Given the description of an element on the screen output the (x, y) to click on. 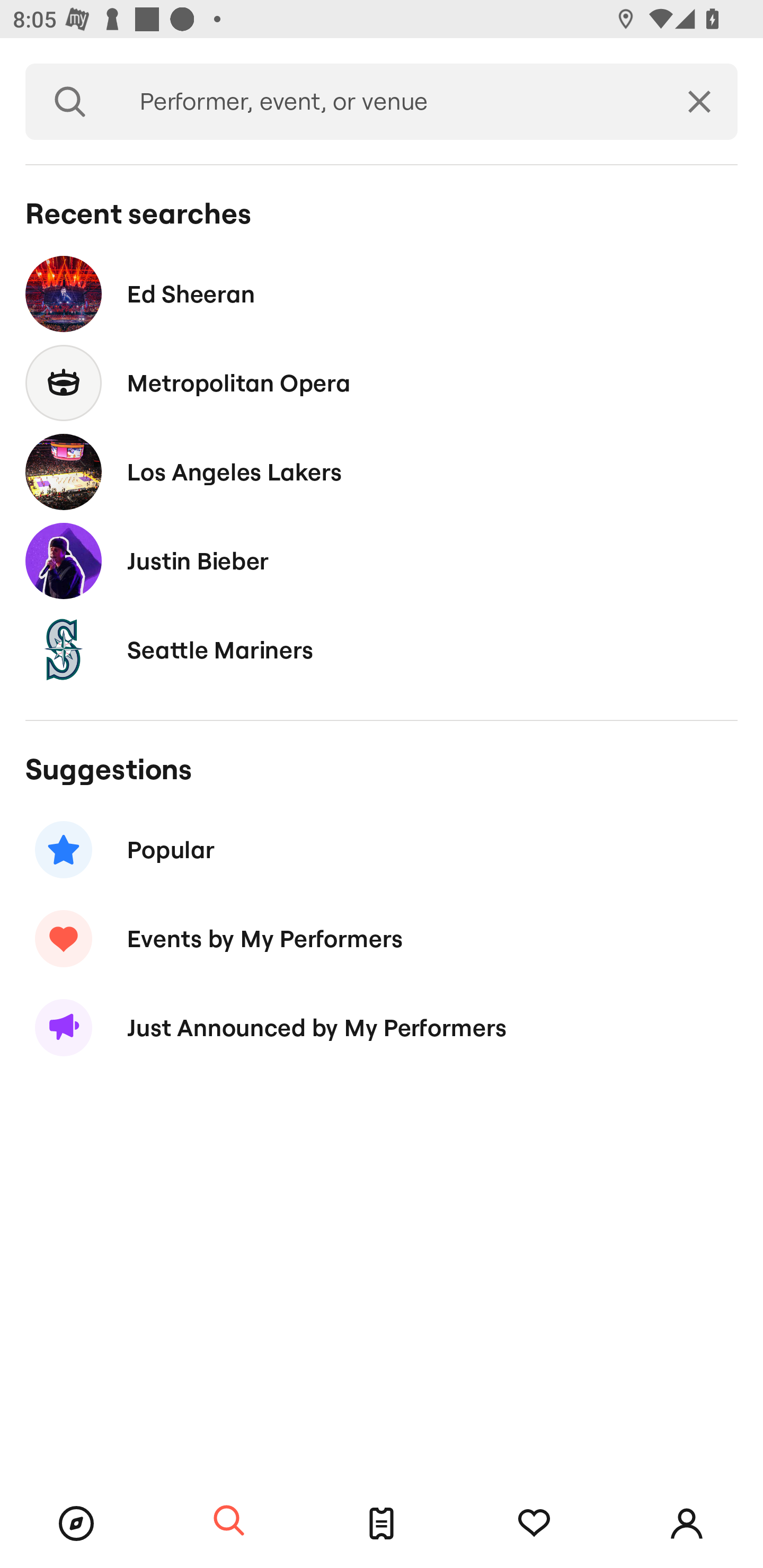
Search (69, 101)
Performer, event, or venue (387, 101)
Clear (699, 101)
Ed Sheeran (381, 293)
Metropolitan Opera (381, 383)
Los Angeles Lakers (381, 471)
Justin Bieber (381, 560)
Seattle Mariners (381, 649)
Popular (381, 849)
Events by My Performers (381, 938)
Just Announced by My Performers (381, 1027)
Browse (76, 1523)
Search (228, 1521)
Tickets (381, 1523)
Tracking (533, 1523)
Account (686, 1523)
